Given the description of an element on the screen output the (x, y) to click on. 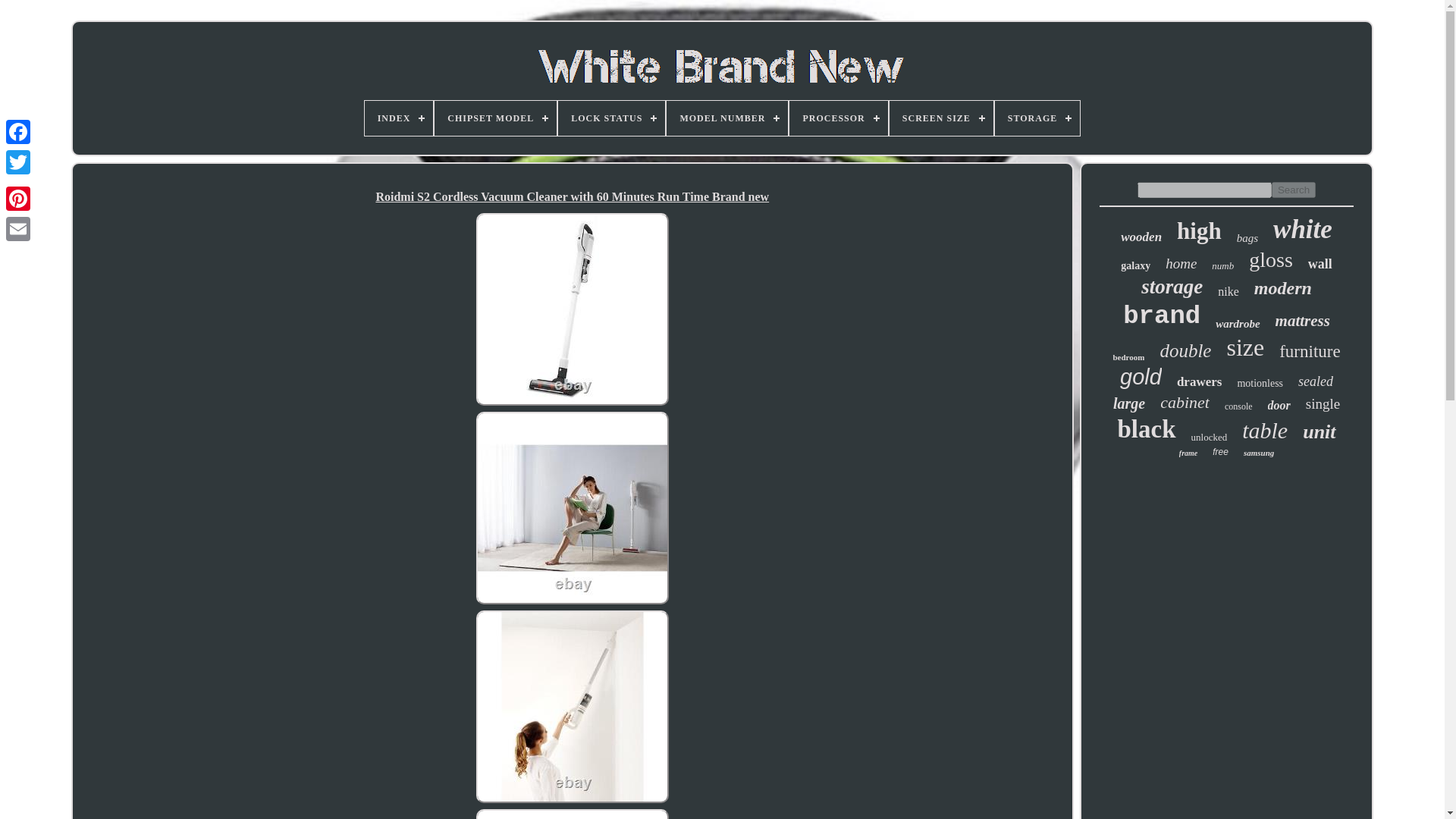
Pinterest (17, 198)
LOCK STATUS (611, 117)
Search (1293, 189)
MODEL NUMBER (726, 117)
CHIPSET MODEL (494, 117)
PROCESSOR (837, 117)
INDEX (399, 117)
